Given the description of an element on the screen output the (x, y) to click on. 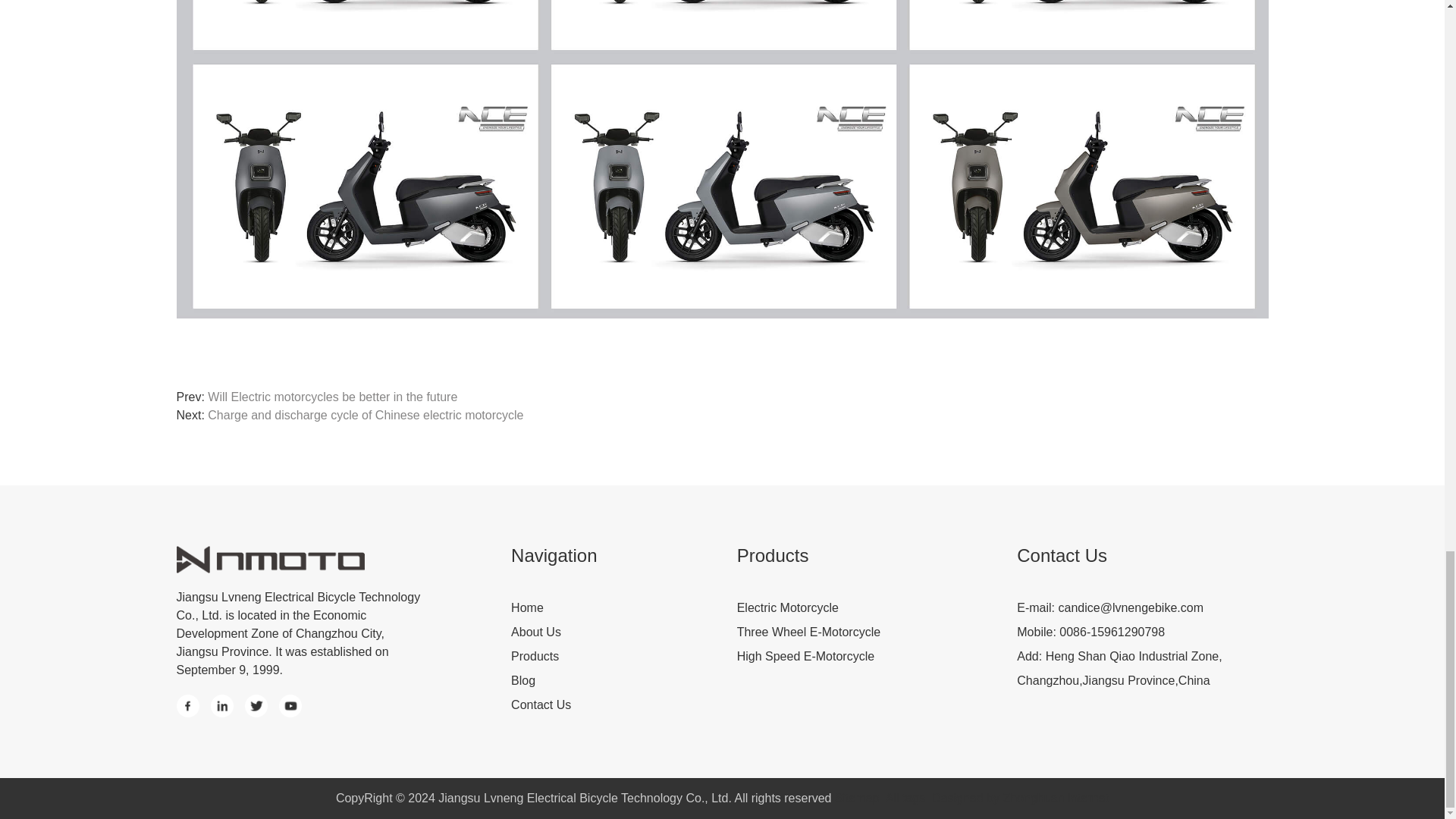
Zhonghuan Internet (1019, 797)
